Given the description of an element on the screen output the (x, y) to click on. 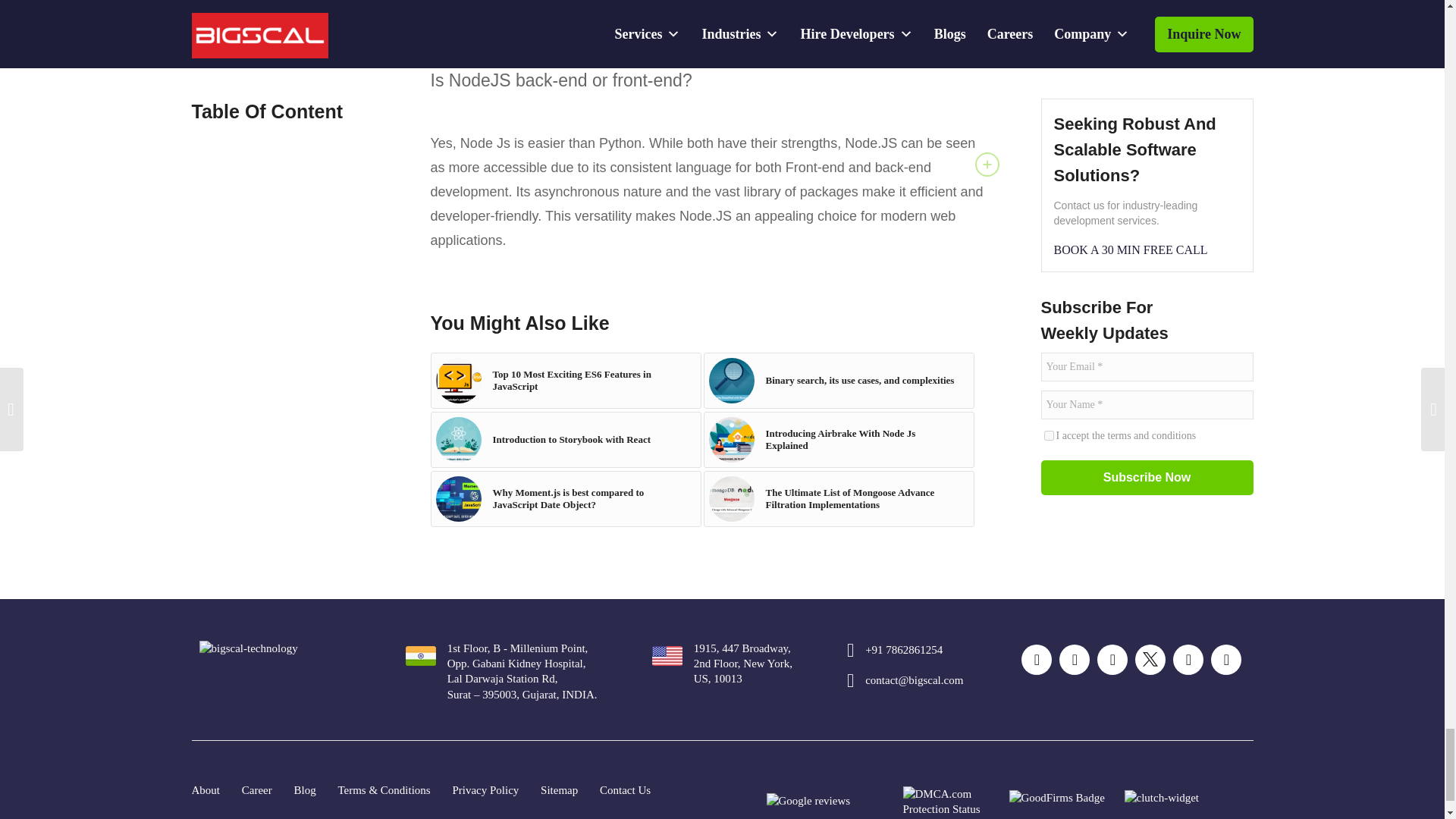
Why Moment.js is best compared to JavaScript Date Object (457, 498)
Why Moment.js is best compared to JavaScript Date Object? (565, 498)
Introduction to Storybook with React (565, 439)
Top 10 Most Exciting ES6 Features in JavaScript (565, 380)
Introducing Airbrake With Node Js Explained (838, 439)
Unlock JavaScripts potential with ES6 (457, 380)
Introduction to Storybook with React (457, 439)
Binary search, its use cases, and complexities (838, 380)
